Given the description of an element on the screen output the (x, y) to click on. 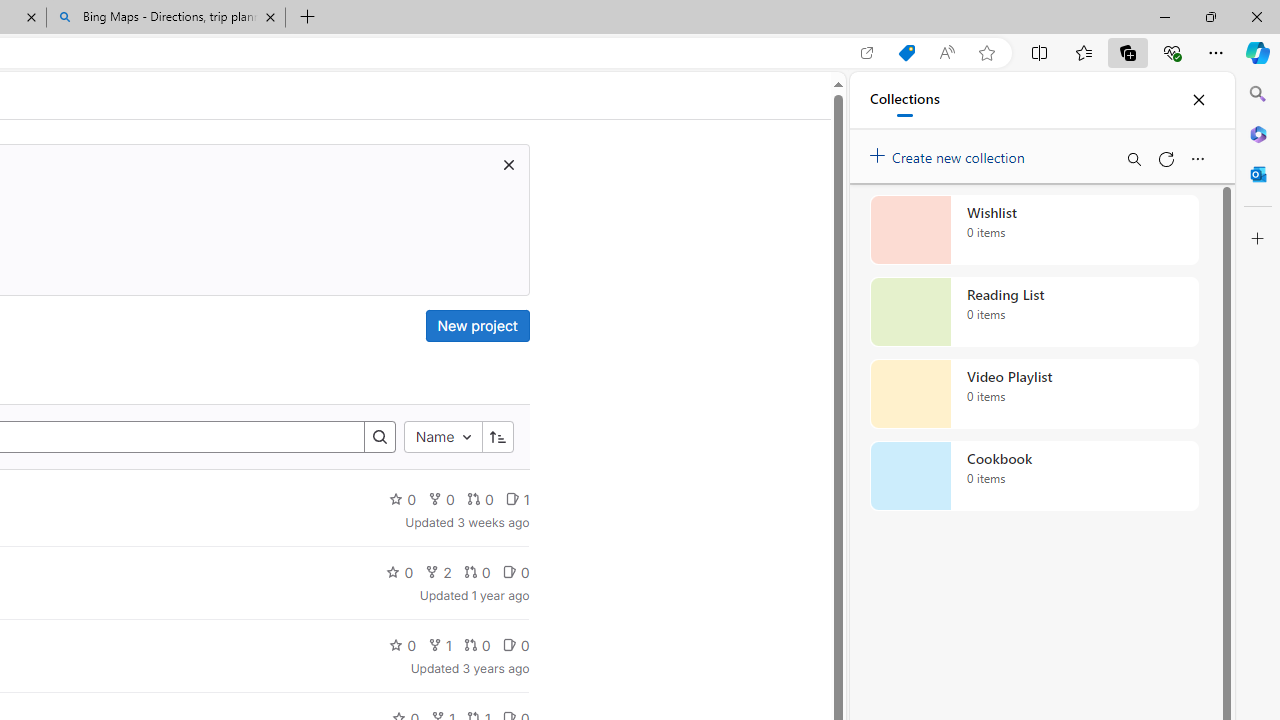
1 (439, 644)
Wishlist collection, 0 items (1034, 229)
Create new collection (950, 153)
Class: s16 gl-icon gl-button-icon  (508, 164)
Sort direction: Ascending (497, 437)
More options menu (1197, 158)
0 (515, 644)
Class: s14 gl-mr-2 (509, 645)
